Given the description of an element on the screen output the (x, y) to click on. 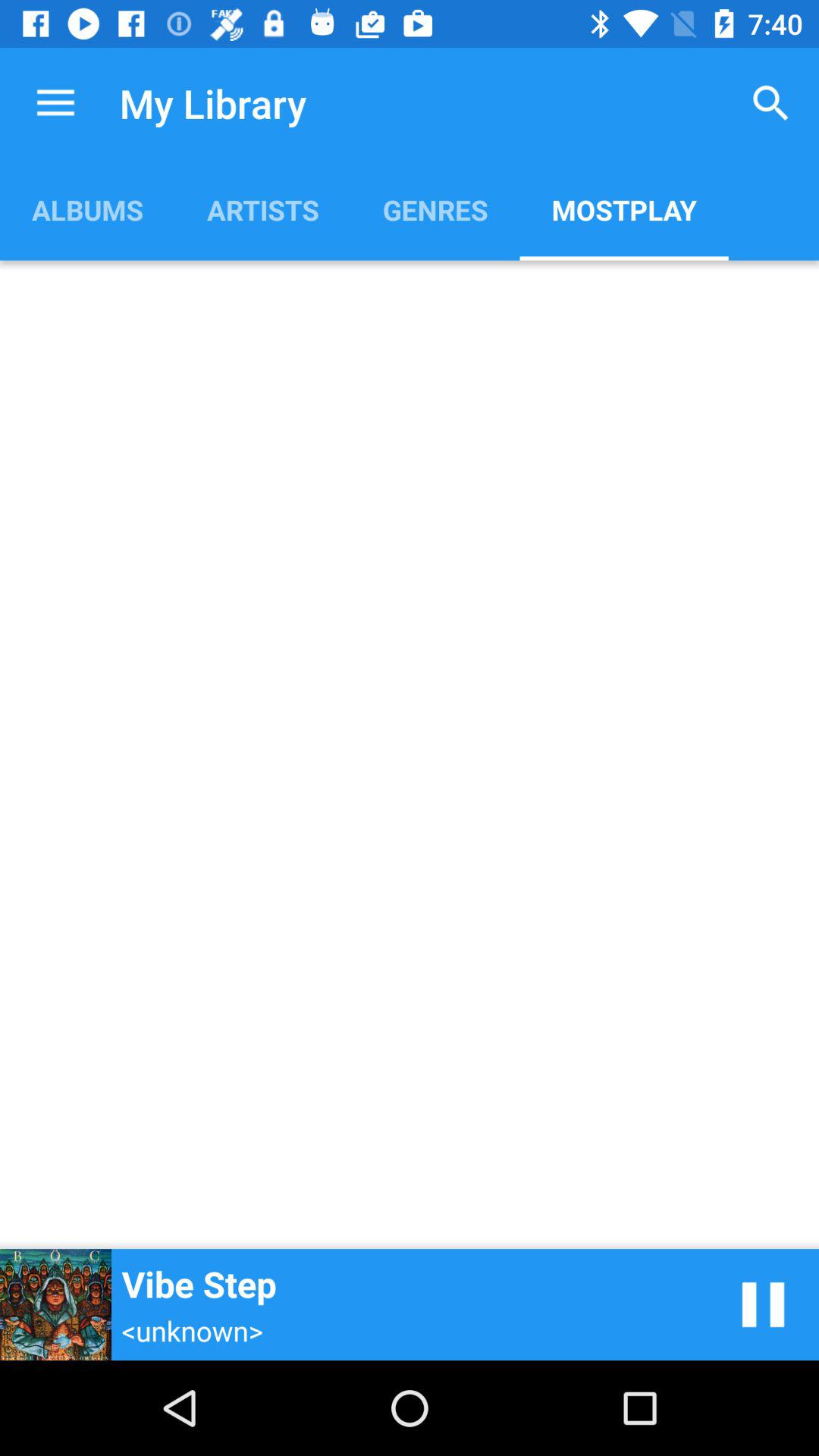
turn off the item to the right of genres (771, 103)
